Given the description of an element on the screen output the (x, y) to click on. 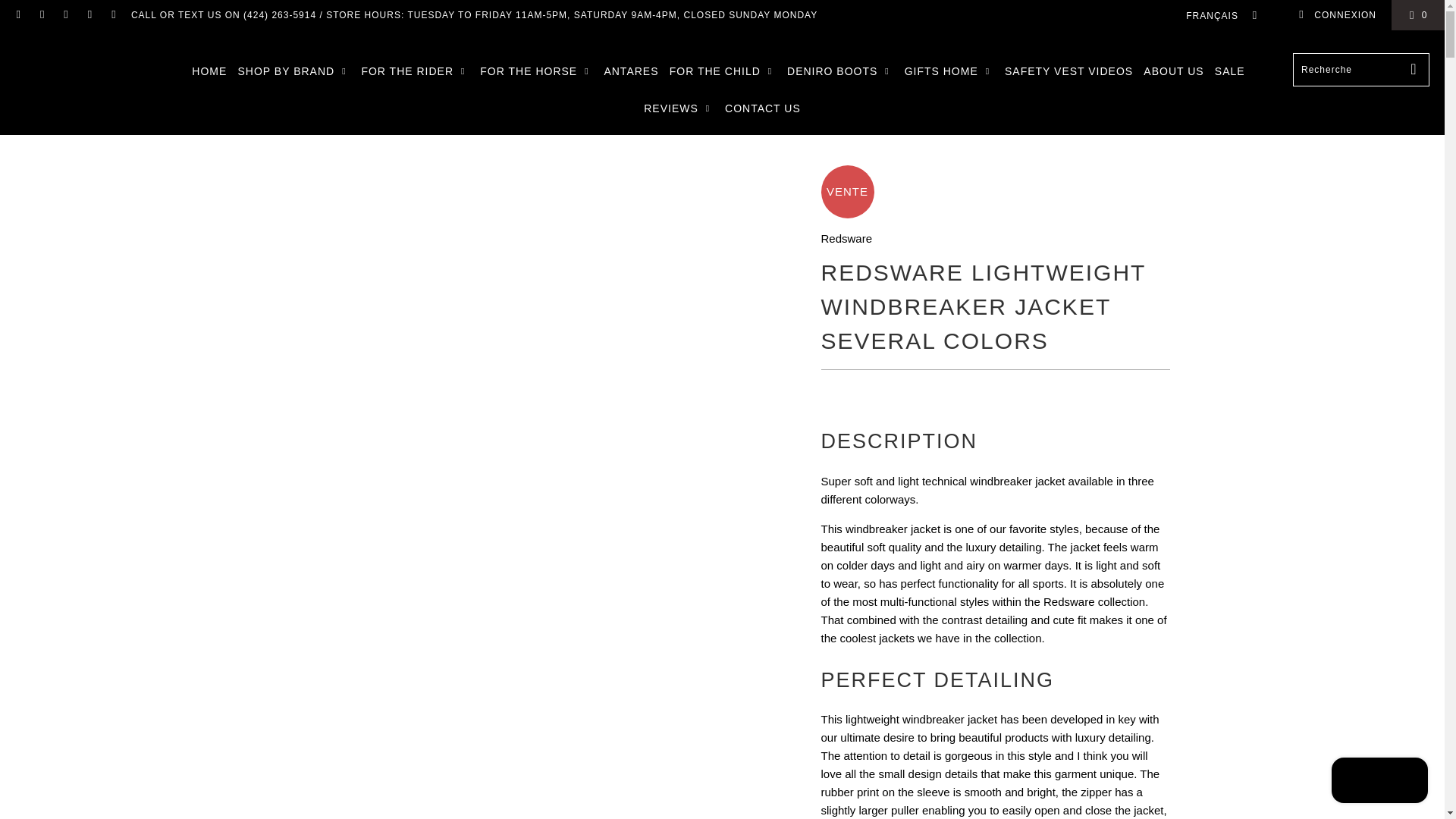
Mon compte  (1337, 15)
Gee Gee Equine on Facebook (41, 14)
Gee Gee Equine on Instagram (112, 14)
Gee Gee Equine on YouTube (65, 14)
Redsware (846, 237)
Gee Gee Equine on Twitter (17, 14)
Gee Gee Equine on Pinterest (89, 14)
